Given the description of an element on the screen output the (x, y) to click on. 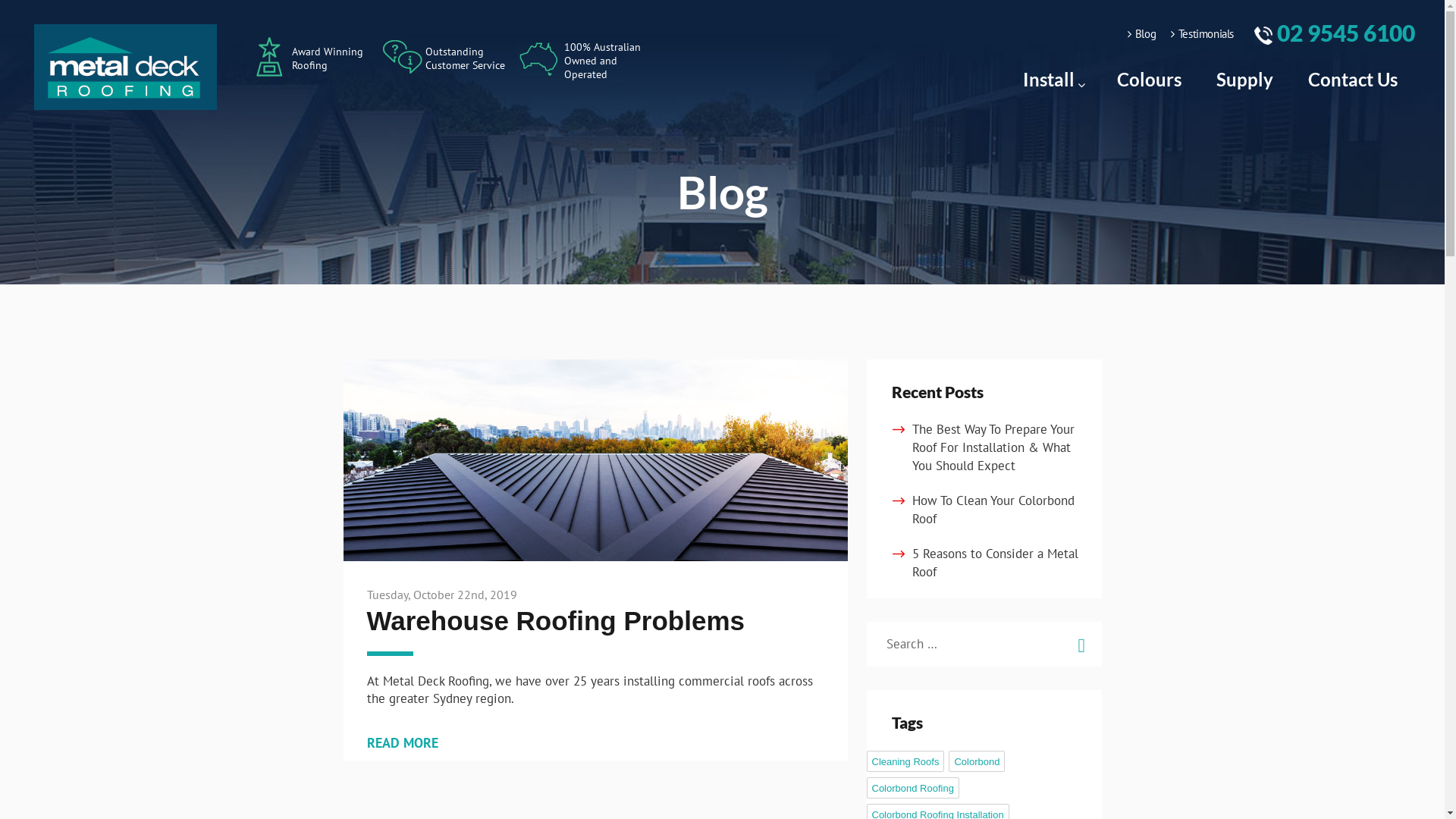
Cleaning Roofs Element type: text (905, 760)
Blog Element type: text (1141, 33)
How To Clean Your Colorbond Roof Element type: text (992, 509)
Contact Us Element type: text (1352, 79)
Colours Element type: text (1148, 79)
Metal Deck Element type: hover (125, 65)
Supply Element type: text (1244, 79)
READ MORE Element type: text (402, 743)
Colorbond Element type: text (976, 760)
Colorbond Roofing Element type: text (912, 787)
Warehouse Roofing Problems Element type: text (555, 620)
5 Reasons to Consider a Metal Roof Element type: text (994, 562)
Testimonials Element type: text (1201, 33)
Install Element type: text (1052, 79)
02 9545 6100 Element type: text (1334, 32)
